Given the description of an element on the screen output the (x, y) to click on. 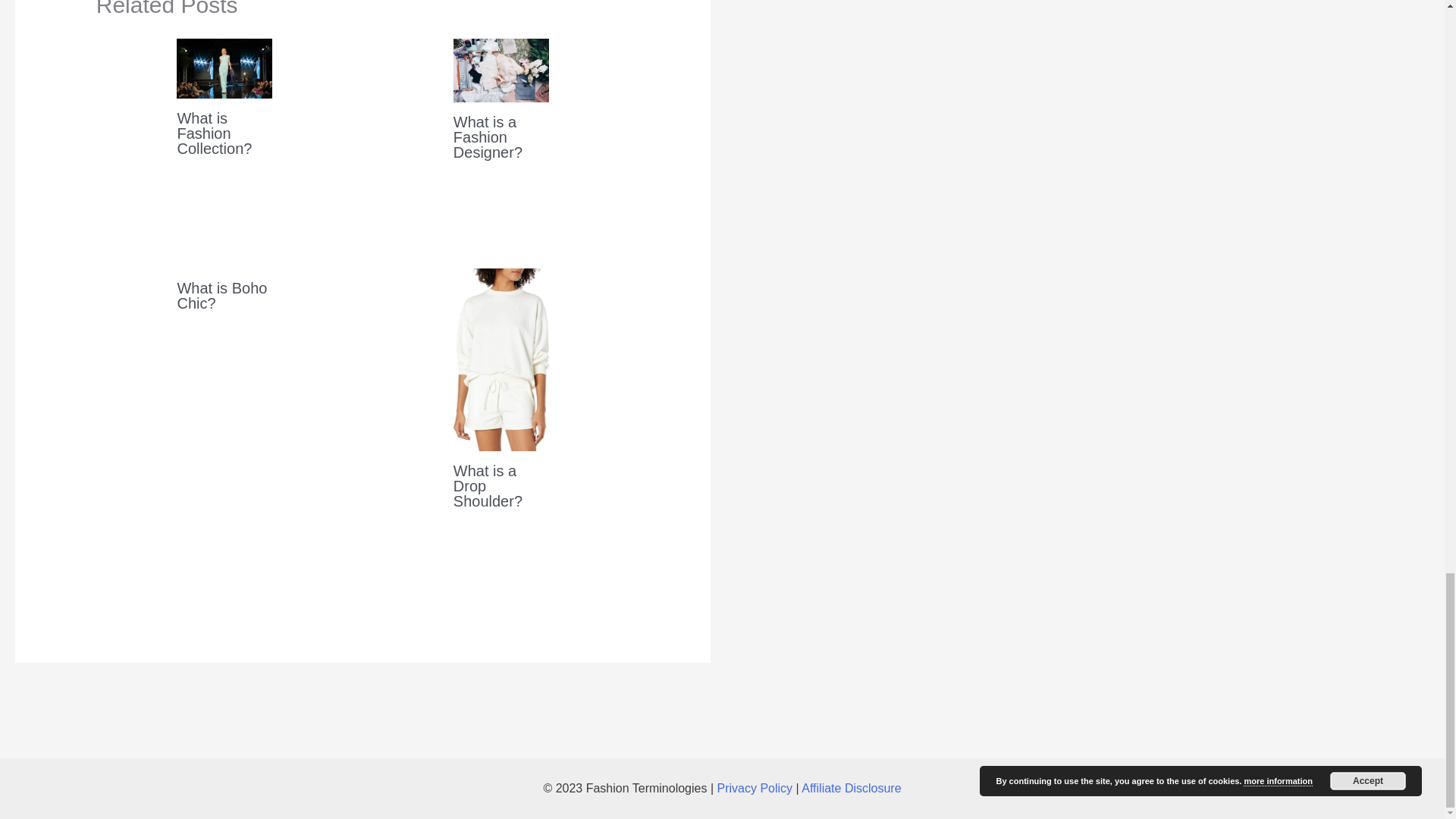
What is Boho Chic? (221, 296)
What is Fashion Collection? (213, 133)
What is a Fashion Designer? (487, 136)
What is a Drop Shoulder? (487, 485)
